Given the description of an element on the screen output the (x, y) to click on. 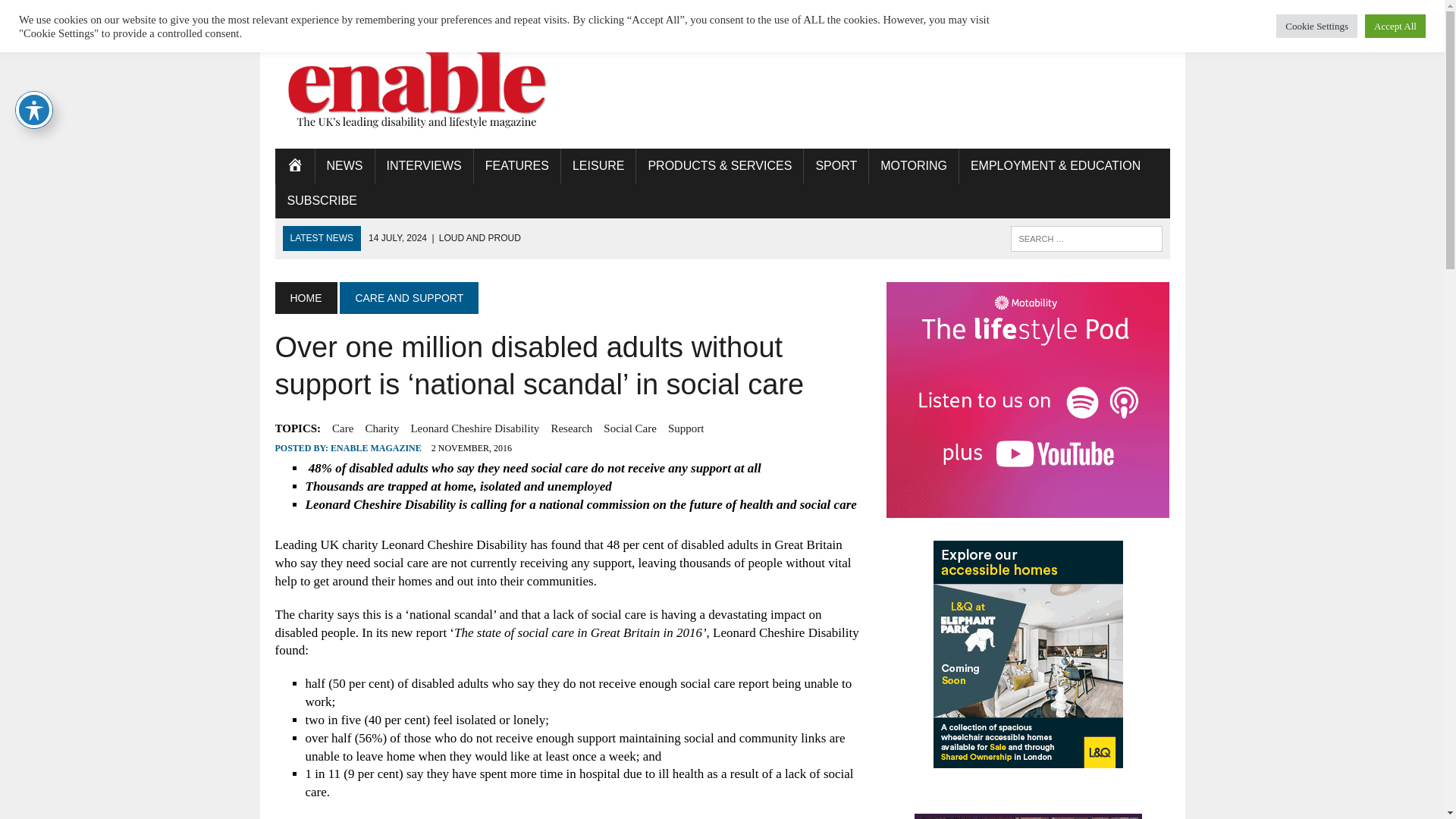
JUMP TO CONTENT (328, 12)
CONTACT (678, 12)
HOME (305, 297)
FEATURES (517, 165)
CARE AND SUPPORT (409, 297)
SUBSCRIBE (322, 200)
Search (75, 14)
Social Care (630, 428)
SPORT (835, 165)
Follow us on Facebook (1102, 10)
WIN (474, 12)
Leonard Cheshire Disability (474, 428)
Follow us on Instagram (1156, 10)
HOME (294, 165)
ABOUT US (418, 12)
